Given the description of an element on the screen output the (x, y) to click on. 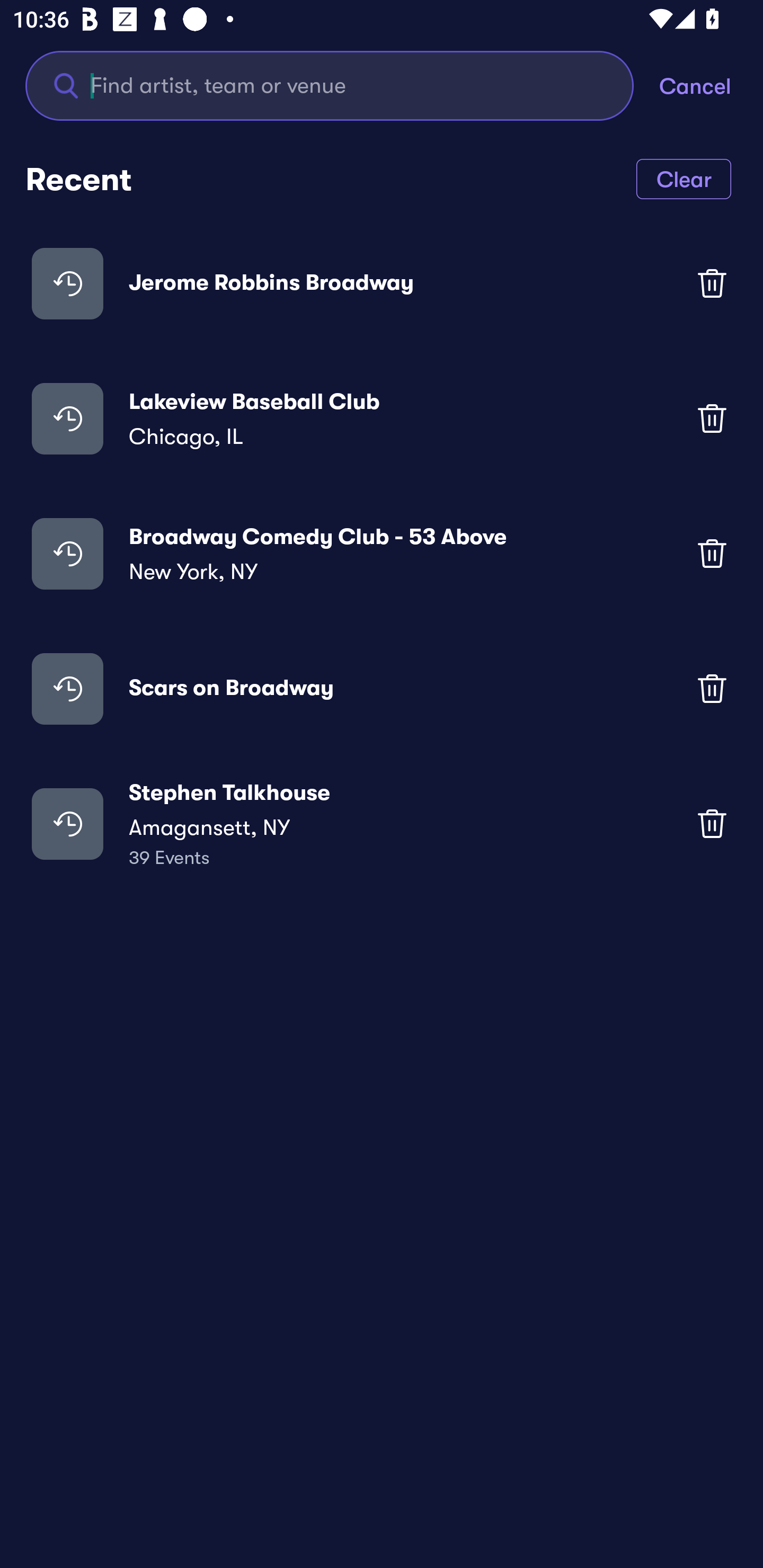
Cancel (711, 85)
Find artist, team or venue Find (329, 85)
Find artist, team or venue Find (341, 85)
Clear (683, 178)
Jerome Robbins Broadway (381, 282)
Lakeview Baseball Club Chicago, IL (381, 417)
Broadway Comedy Club - 53 Above New York, NY (381, 553)
Scars on Broadway (381, 688)
Stephen Talkhouse Amagansett, NY 39 Events (381, 823)
